Given the description of an element on the screen output the (x, y) to click on. 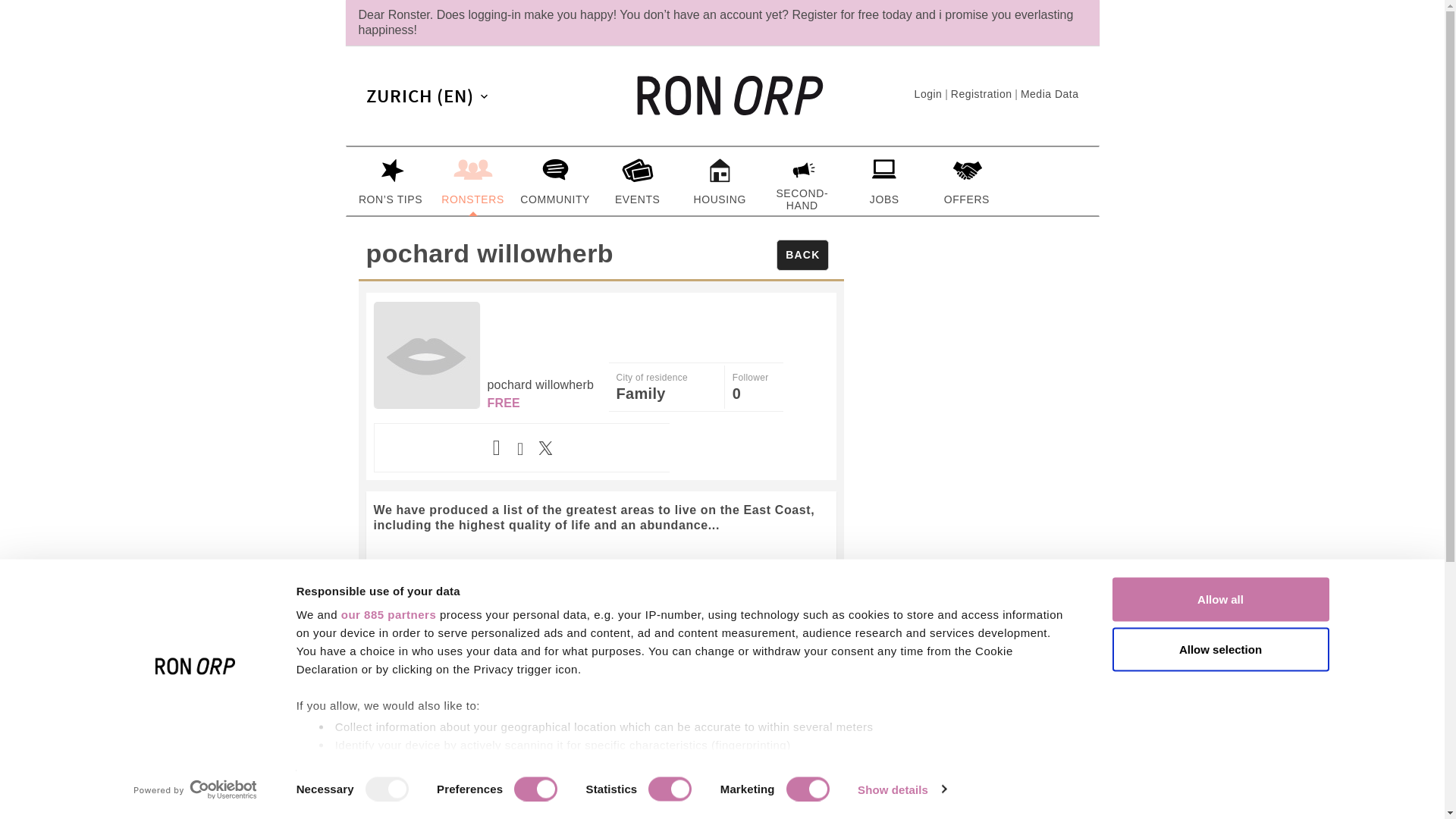
our 885 partners (388, 614)
Show details (900, 789)
details section (825, 765)
